Given the description of an element on the screen output the (x, y) to click on. 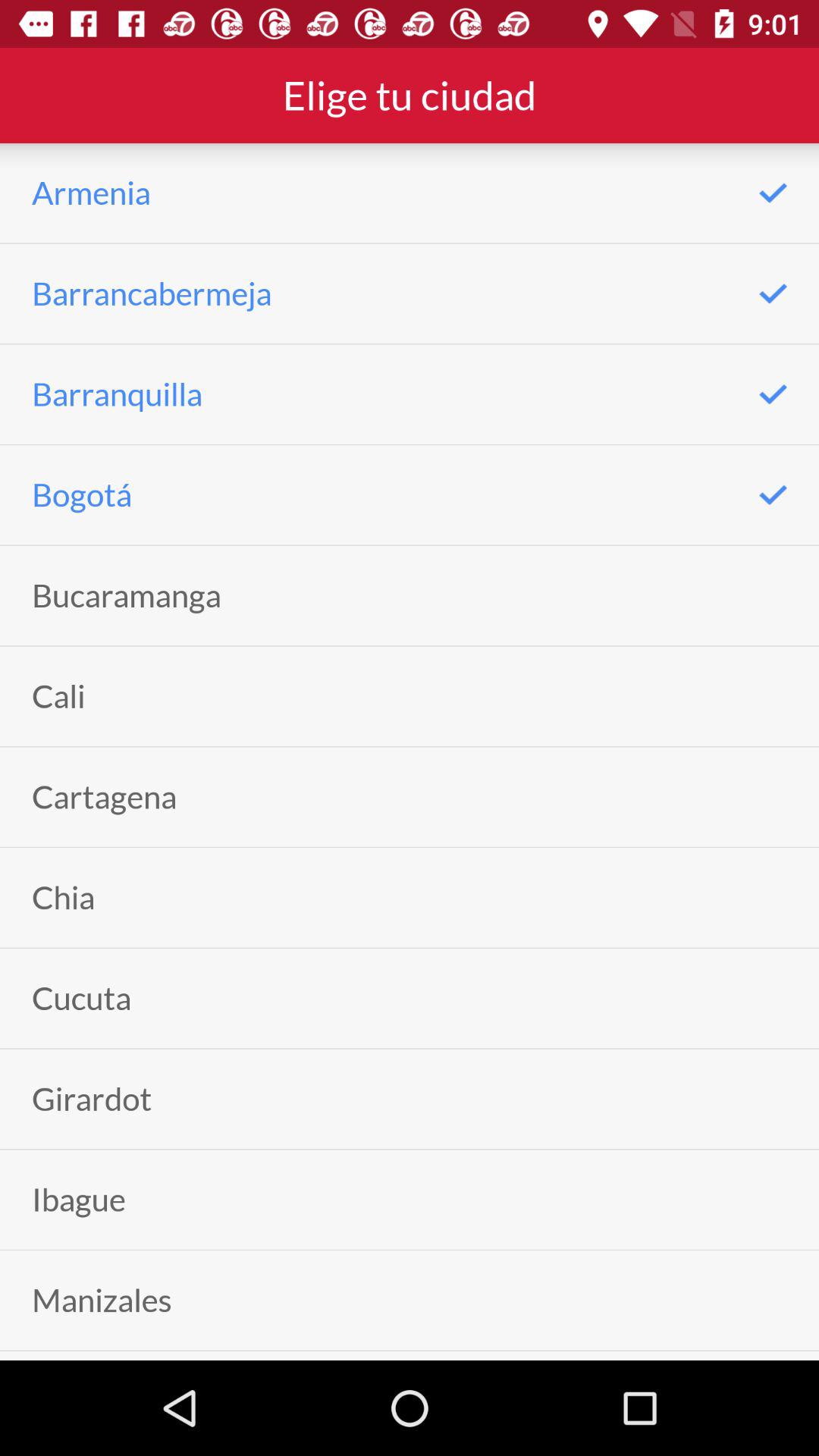
swipe until barrancabermeja item (151, 293)
